Given the description of an element on the screen output the (x, y) to click on. 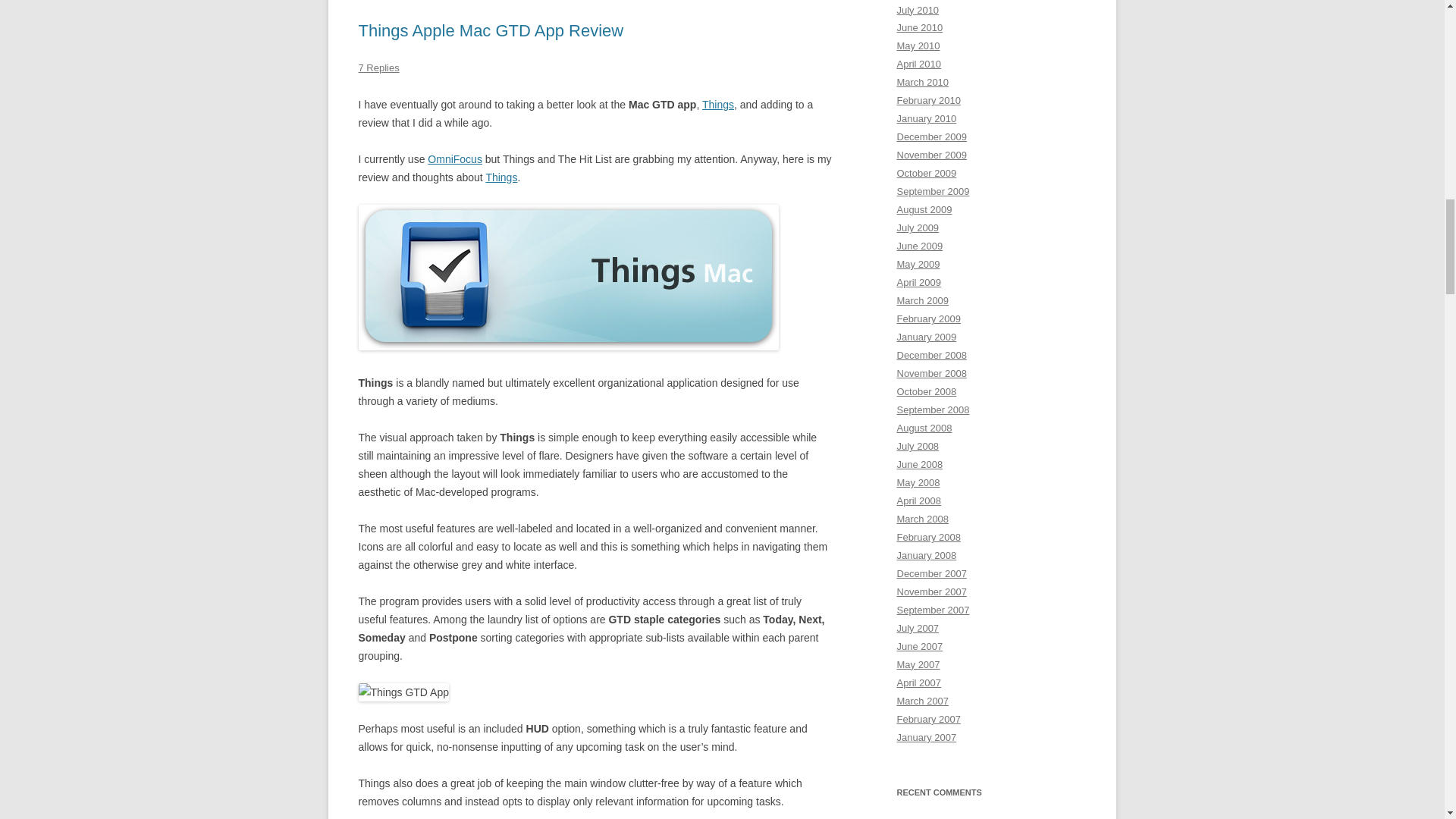
Things Apple Mac GTD App Review (490, 30)
Things (500, 177)
OmniFocus (454, 159)
7 Replies (378, 67)
Things (717, 104)
